Given the description of an element on the screen output the (x, y) to click on. 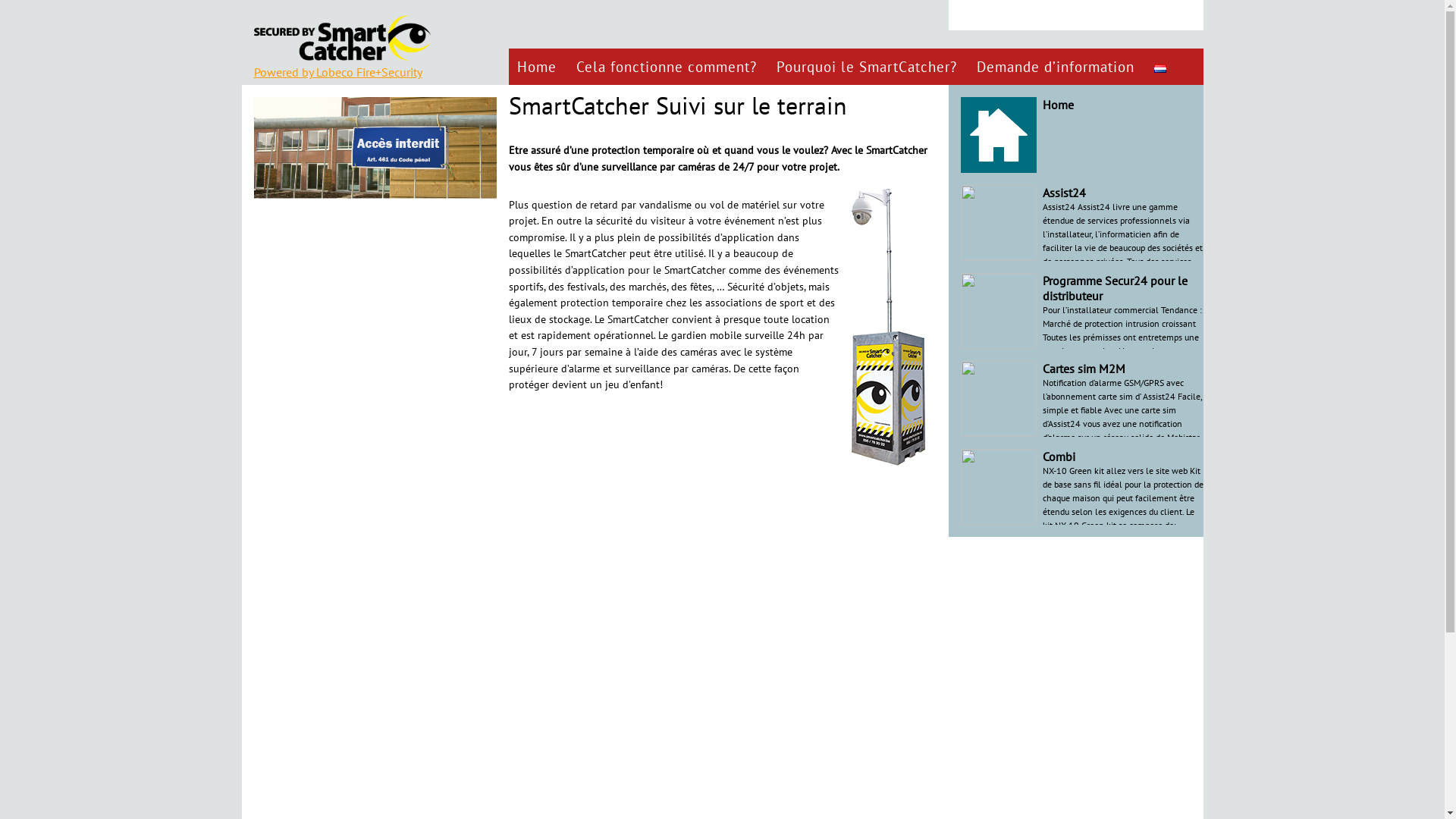
Assist24 Element type: text (1063, 192)
Powered by Lobeco Fire+Security Element type: text (337, 71)
Home Element type: text (537, 66)
Programme Secur24 pour le distributeur Element type: text (1113, 288)
Combi Element type: text (1057, 456)
Search Element type: text (962, 15)
Cela fonctionne comment? Element type: text (667, 66)
Nederlands Element type: hover (1160, 68)
Home Element type: text (1057, 104)
Cartes sim M2M Element type: text (1082, 368)
Pourquoi le SmartCatcher? Element type: text (867, 66)
